Given the description of an element on the screen output the (x, y) to click on. 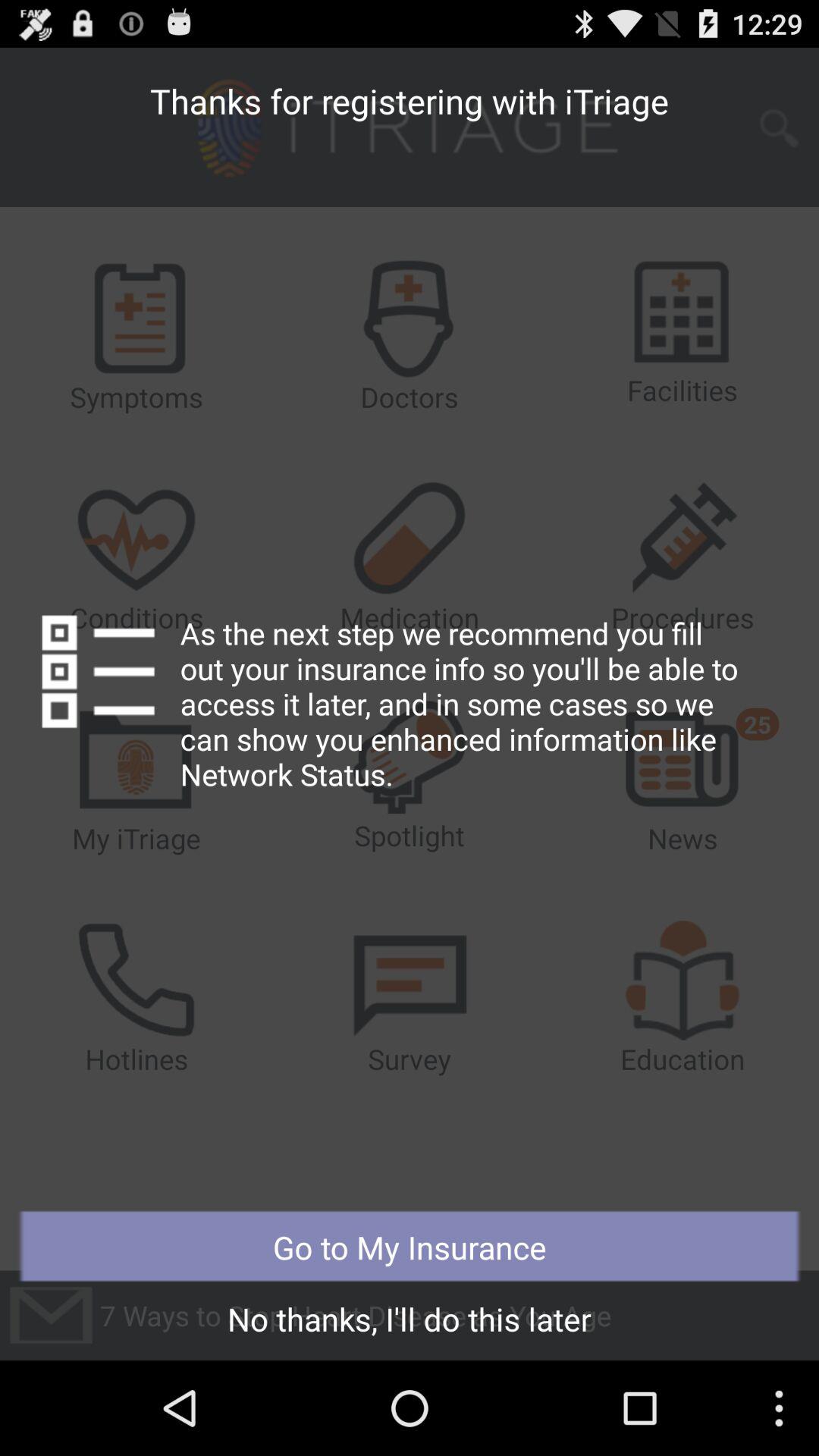
choose the button below the go to my (409, 1323)
